Given the description of an element on the screen output the (x, y) to click on. 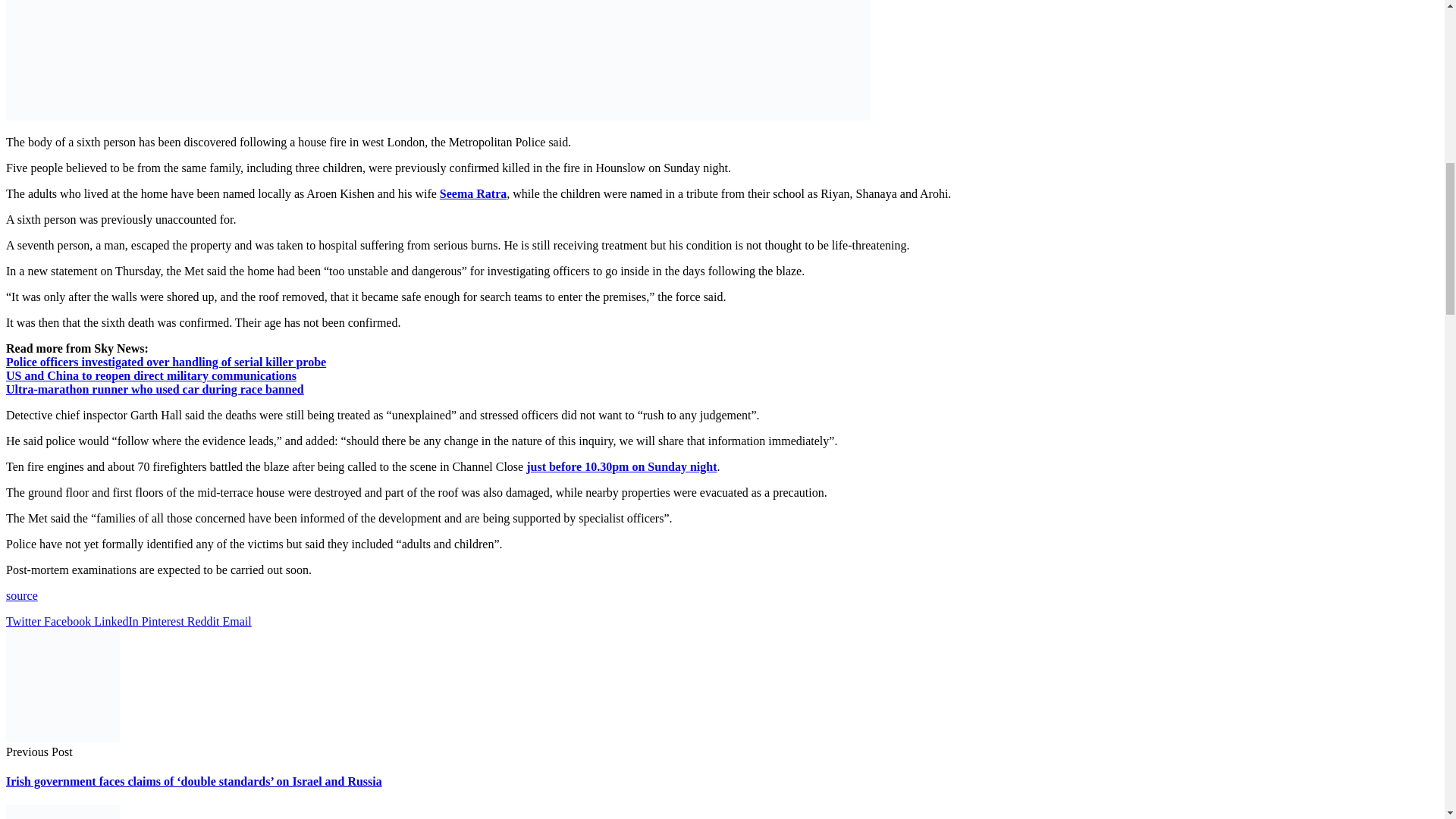
Pinterest (164, 621)
US and China to reopen direct military communications (151, 375)
Pin this! (164, 621)
Ultra-marathon runner who used car during race banned (154, 389)
Share on Email (236, 621)
Email (236, 621)
Tweet This! (24, 621)
Seema Ratra (472, 193)
just before 10.30pm on Sunday night (620, 466)
LinkedIn (117, 621)
